Given the description of an element on the screen output the (x, y) to click on. 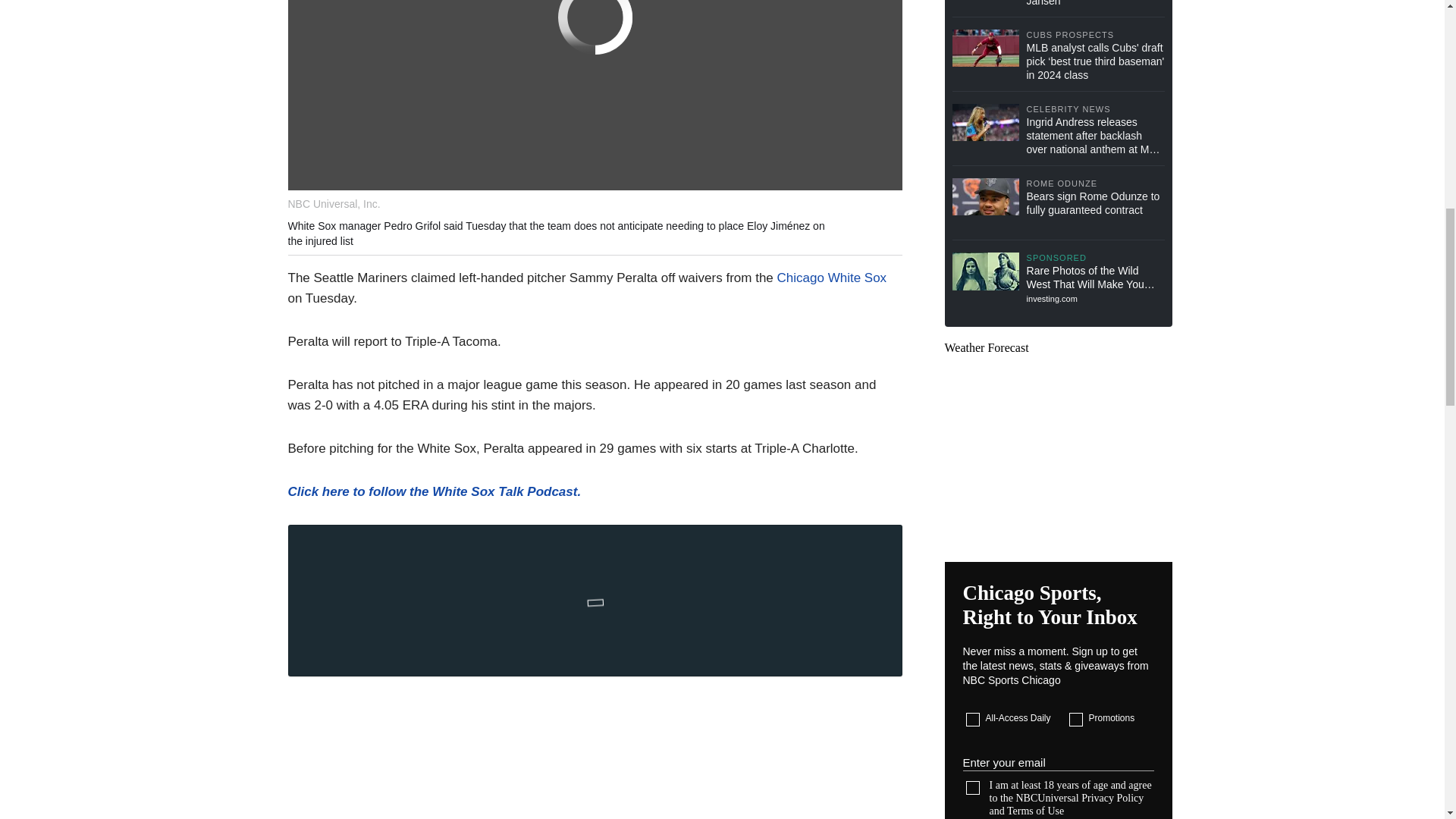
Click here to follow the White Sox Talk Podcast. (434, 491)
on (1075, 719)
on (972, 787)
Chicago White Sox (831, 278)
on (972, 719)
